Given the description of an element on the screen output the (x, y) to click on. 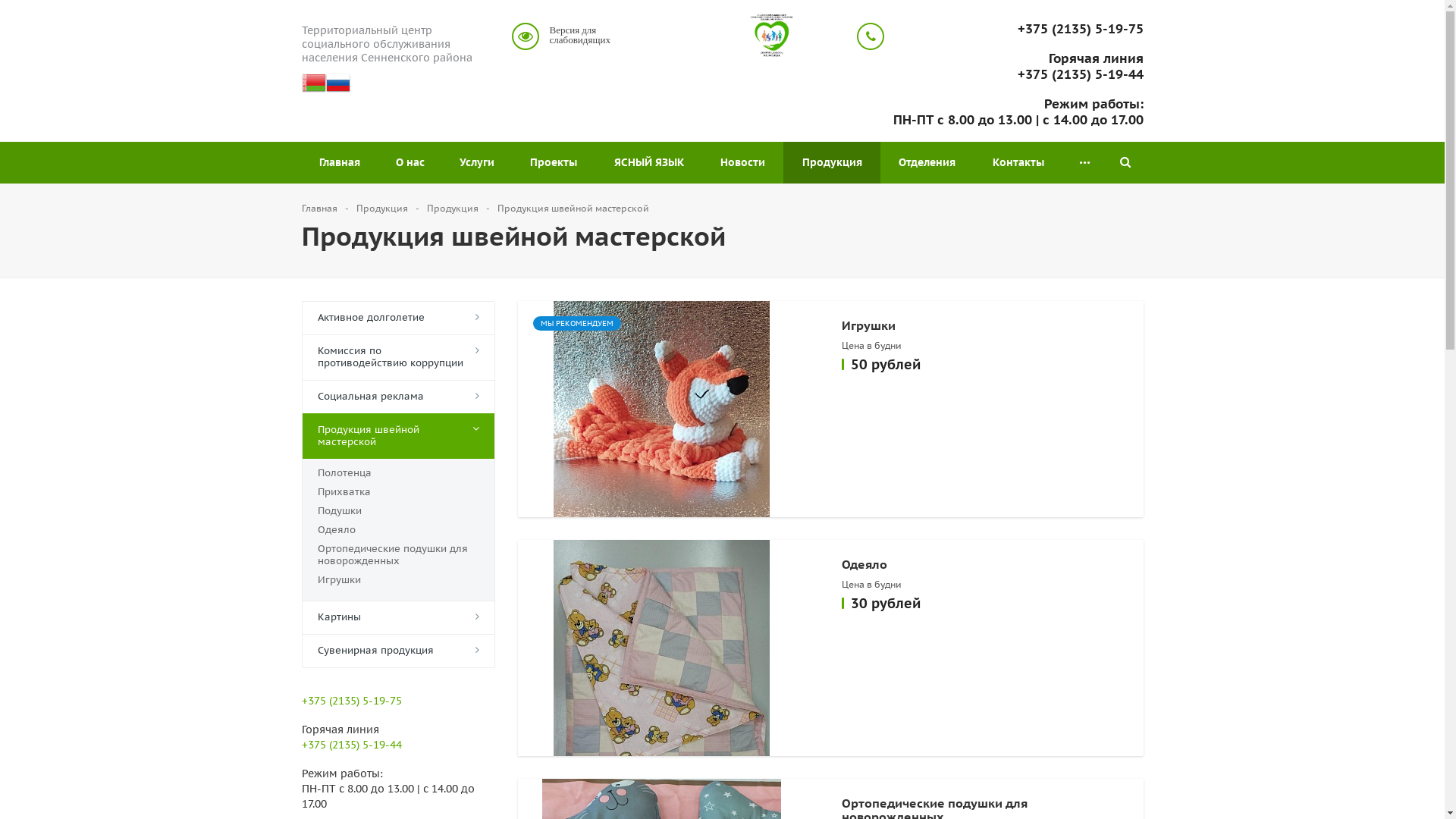
+375 (2135) 5-19-44 Element type: text (351, 744)
+375 (2135) 5-19-44 Element type: text (1018, 74)
+375 (2135) 5-19-75 Element type: text (1018, 29)
... Element type: text (1084, 162)
+375 (2135) 5-19-75 Element type: text (351, 700)
Belarusian Element type: hover (313, 86)
Russian Element type: hover (338, 86)
